Given the description of an element on the screen output the (x, y) to click on. 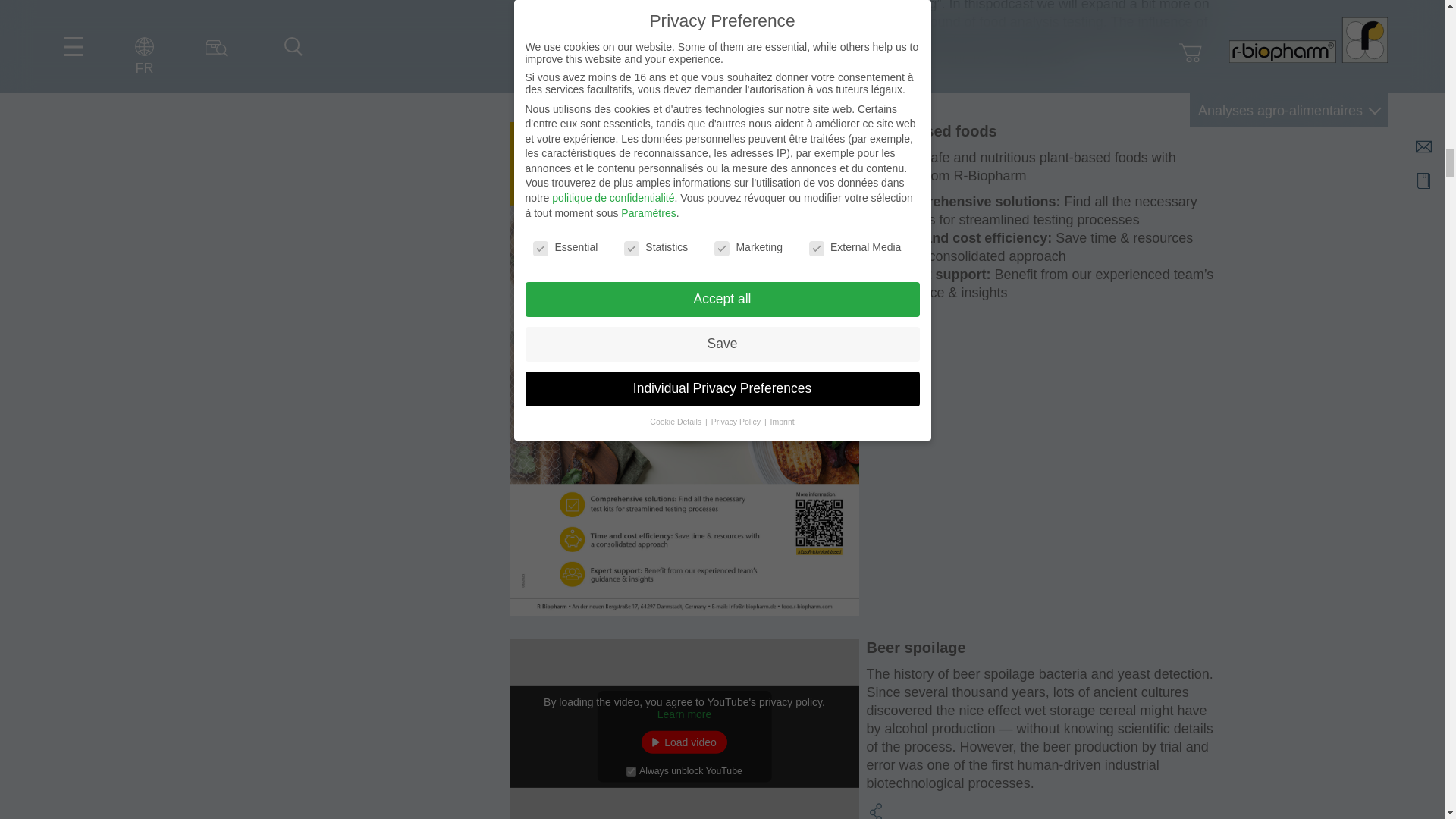
1 (631, 771)
